Given the description of an element on the screen output the (x, y) to click on. 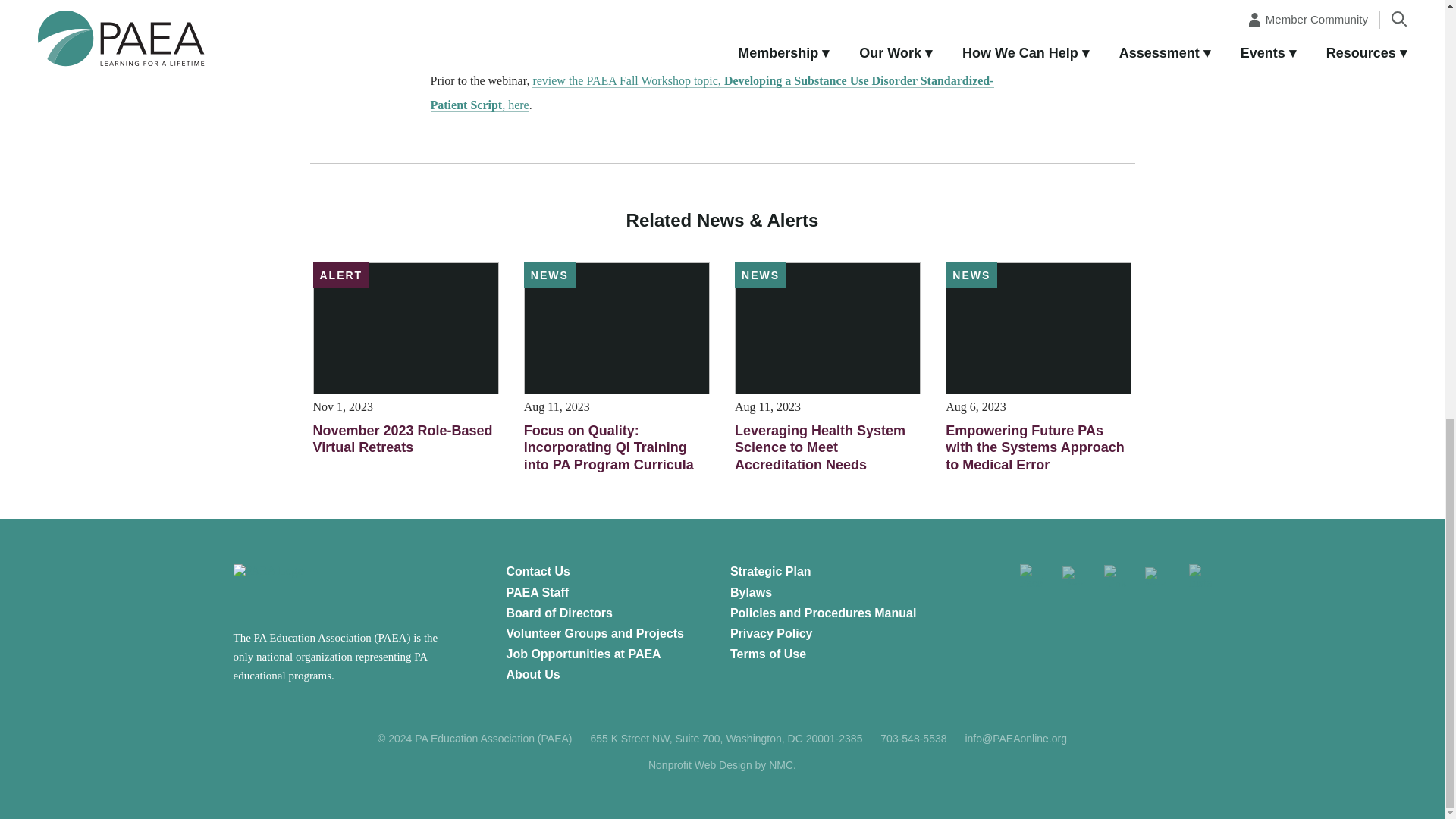
homepage (305, 588)
